Given the description of an element on the screen output the (x, y) to click on. 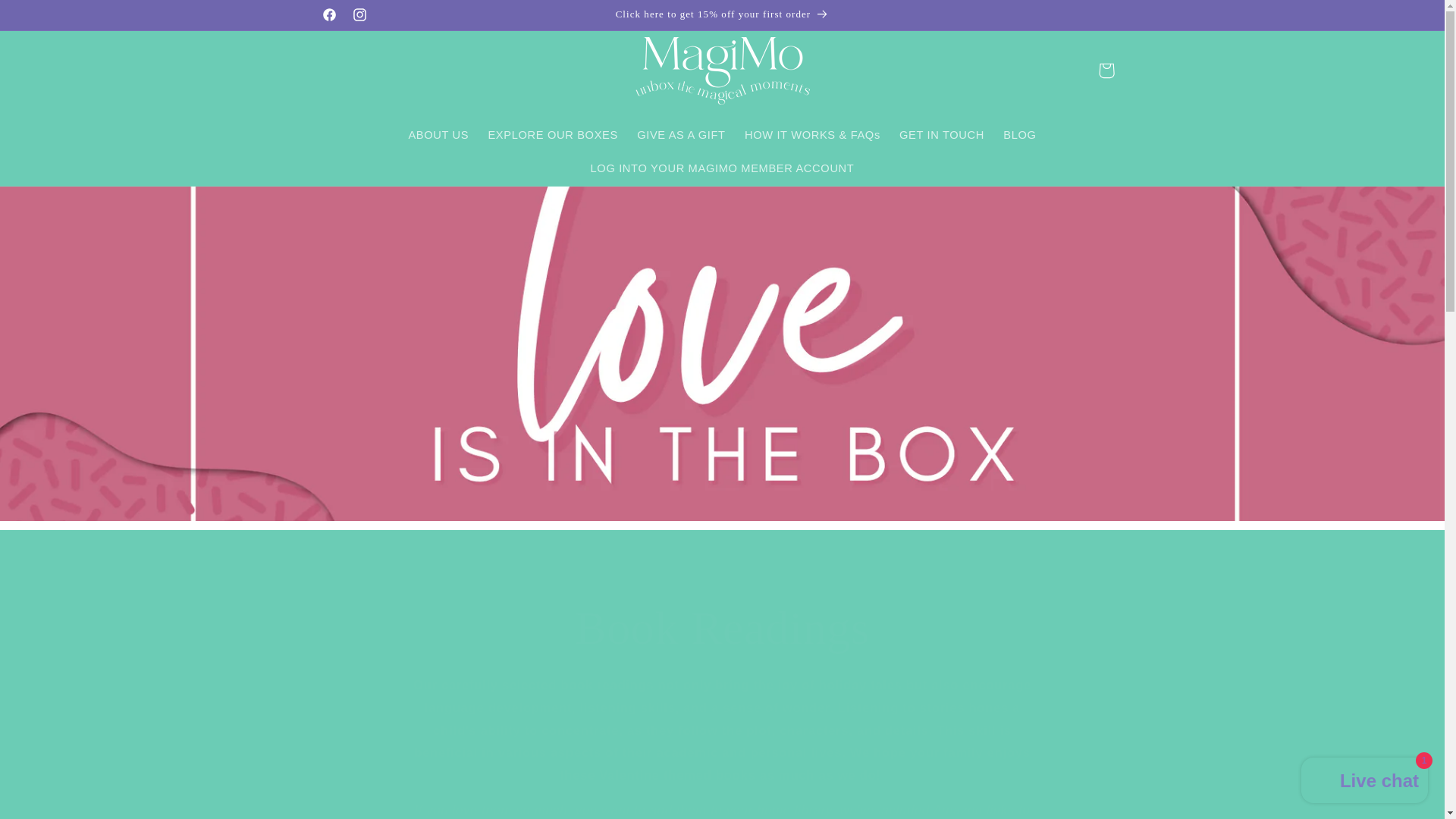
Book Readings (722, 628)
Skip to content (48, 18)
GET IN TOUCH (940, 135)
Instagram (360, 15)
GIVE AS A GIFT (681, 135)
EXPLORE OUR BOXES (553, 135)
LOG INTO YOUR MAGIMO MEMBER ACCOUNT (721, 168)
ABOUT US (438, 135)
Cart (1106, 70)
BLOG (1020, 135)
Shopify online store chat (1364, 781)
Facebook (329, 15)
